Given the description of an element on the screen output the (x, y) to click on. 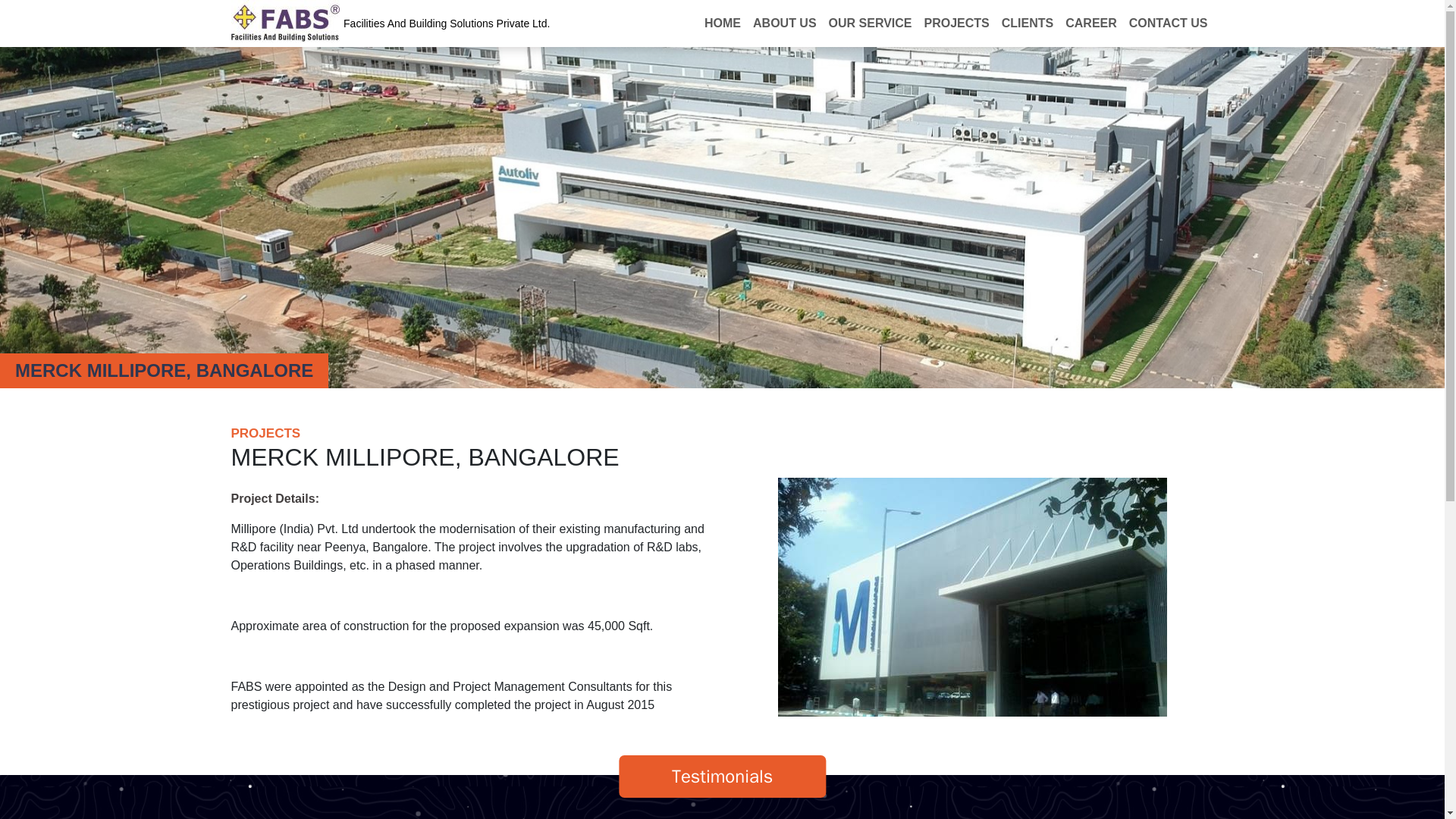
Facilities And Building Solutions Private Ltd. (390, 23)
ABOUT US (784, 23)
OUR SERVICE (870, 23)
PROJECTS (956, 23)
HOME (722, 23)
